Given the description of an element on the screen output the (x, y) to click on. 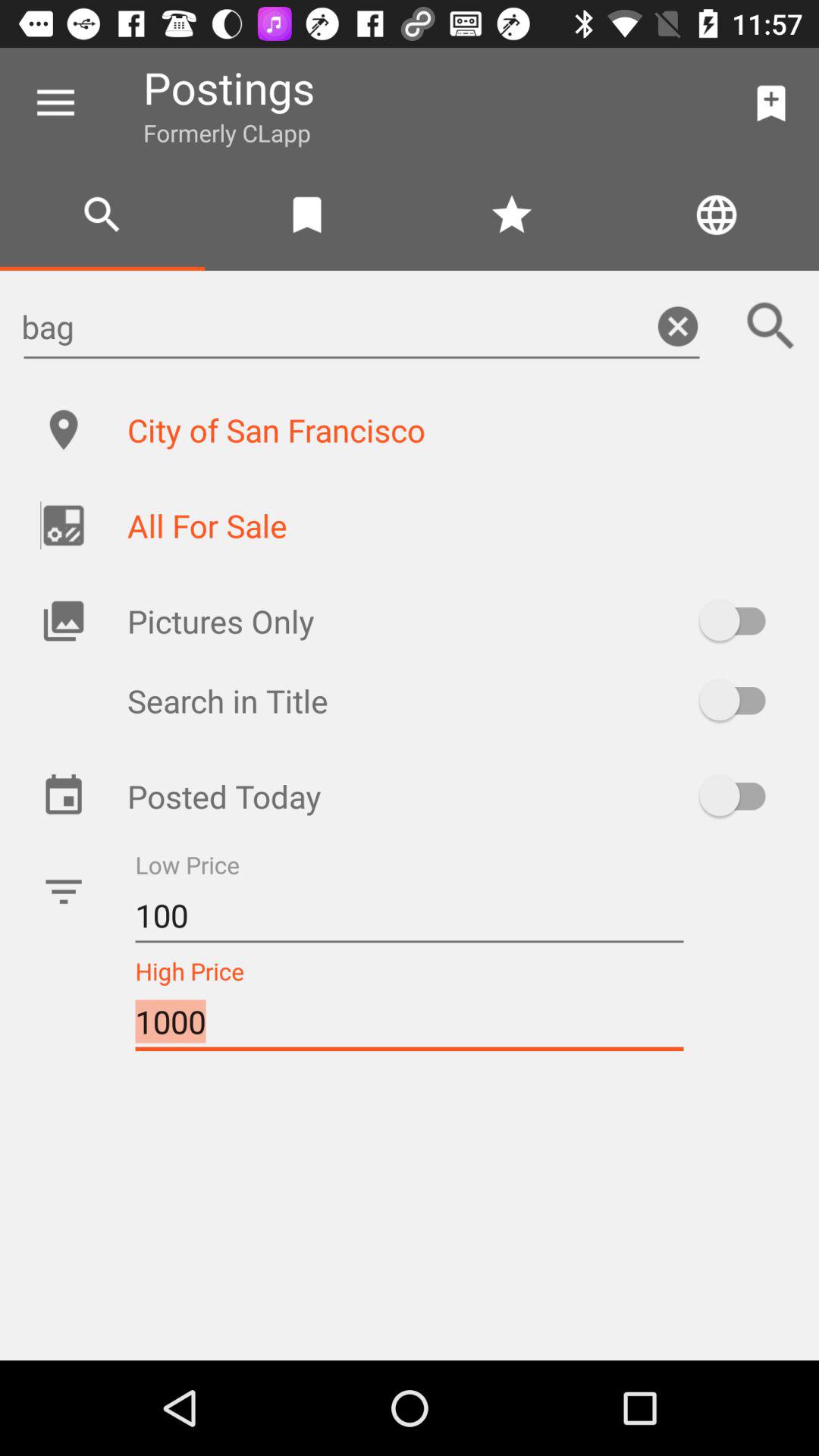
search bar (771, 326)
